Given the description of an element on the screen output the (x, y) to click on. 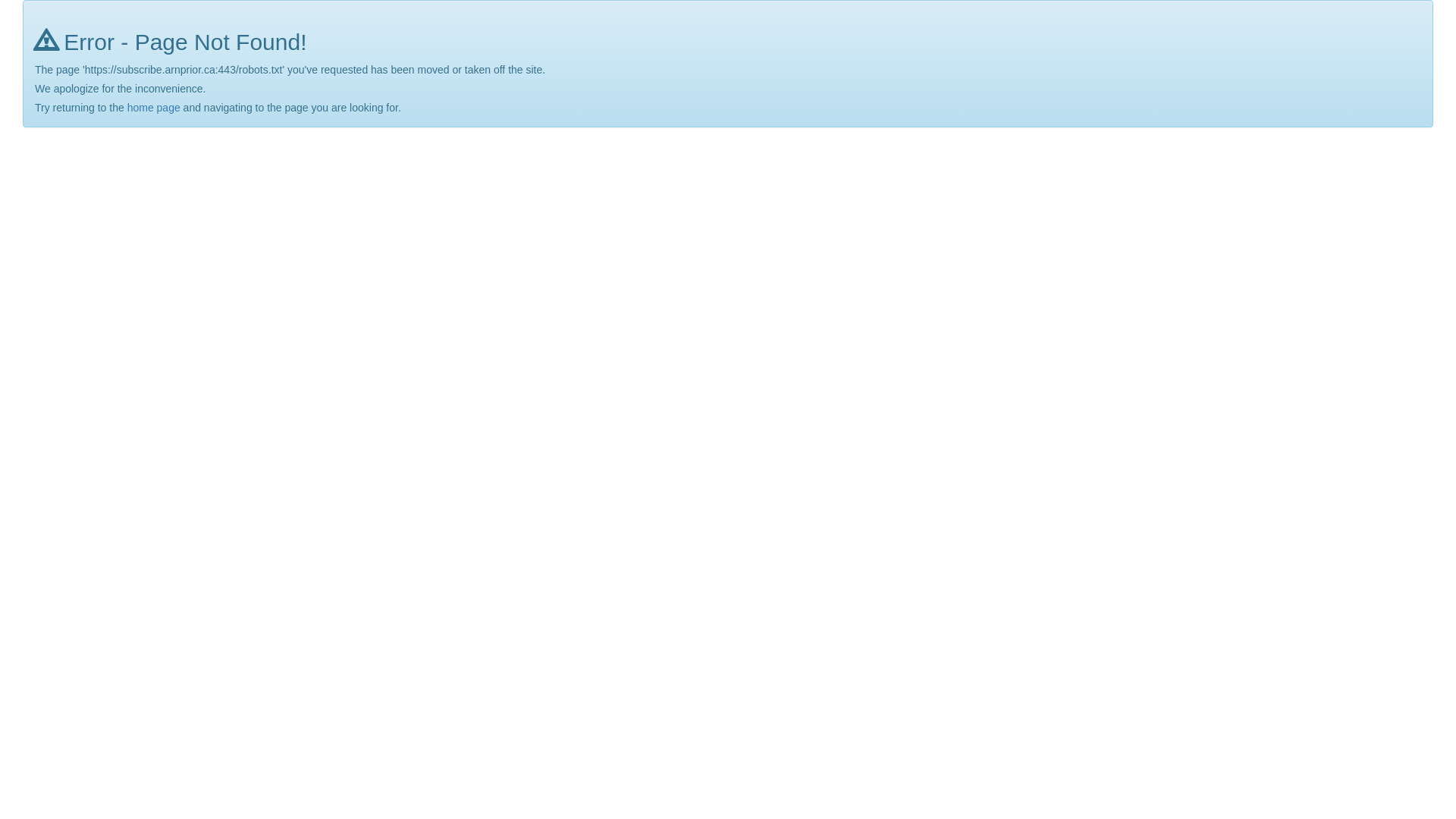
home page Element type: text (153, 107)
